Given the description of an element on the screen output the (x, y) to click on. 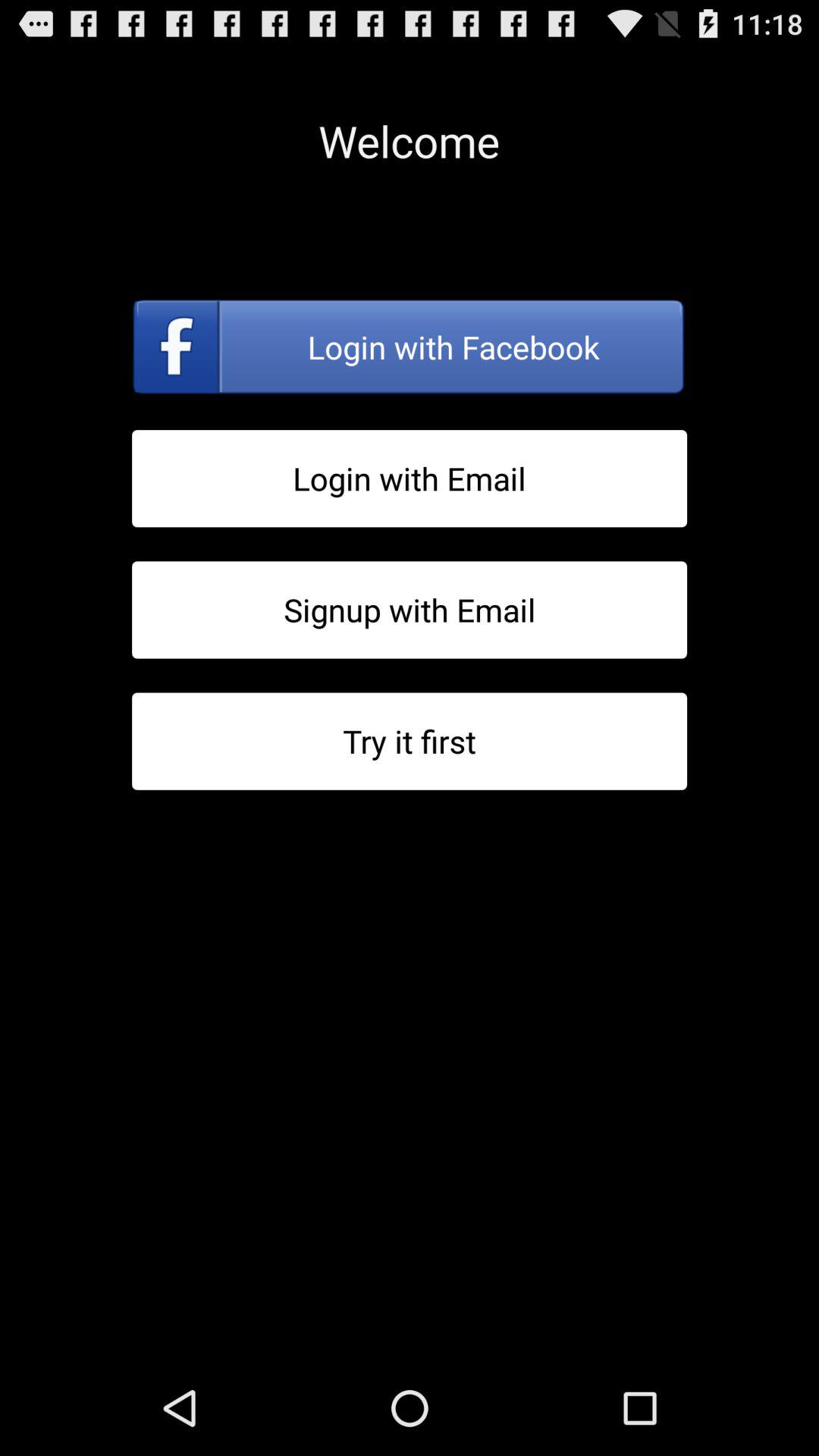
login with facebook (409, 346)
